Given the description of an element on the screen output the (x, y) to click on. 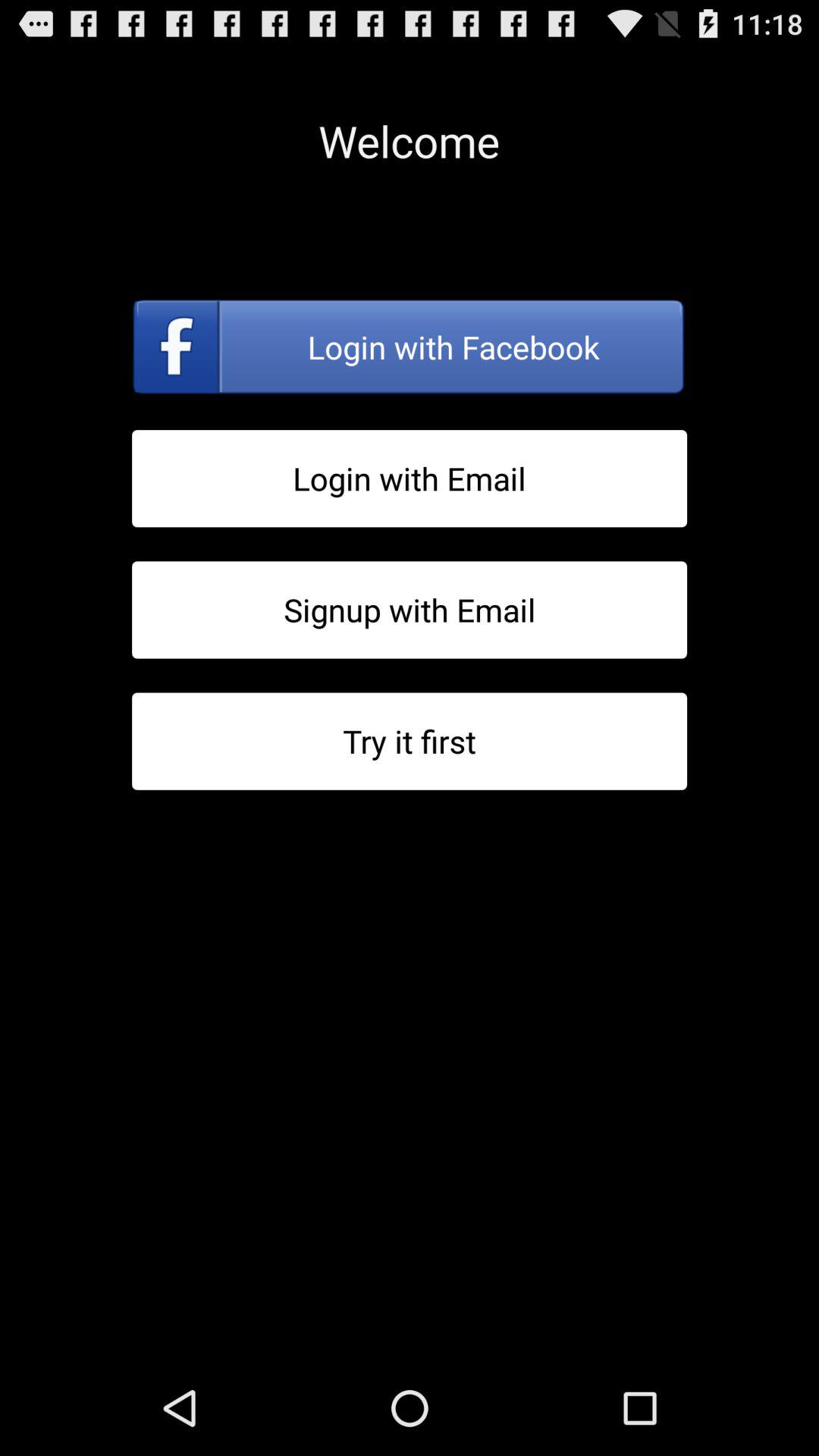
login with facebook (409, 346)
